Given the description of an element on the screen output the (x, y) to click on. 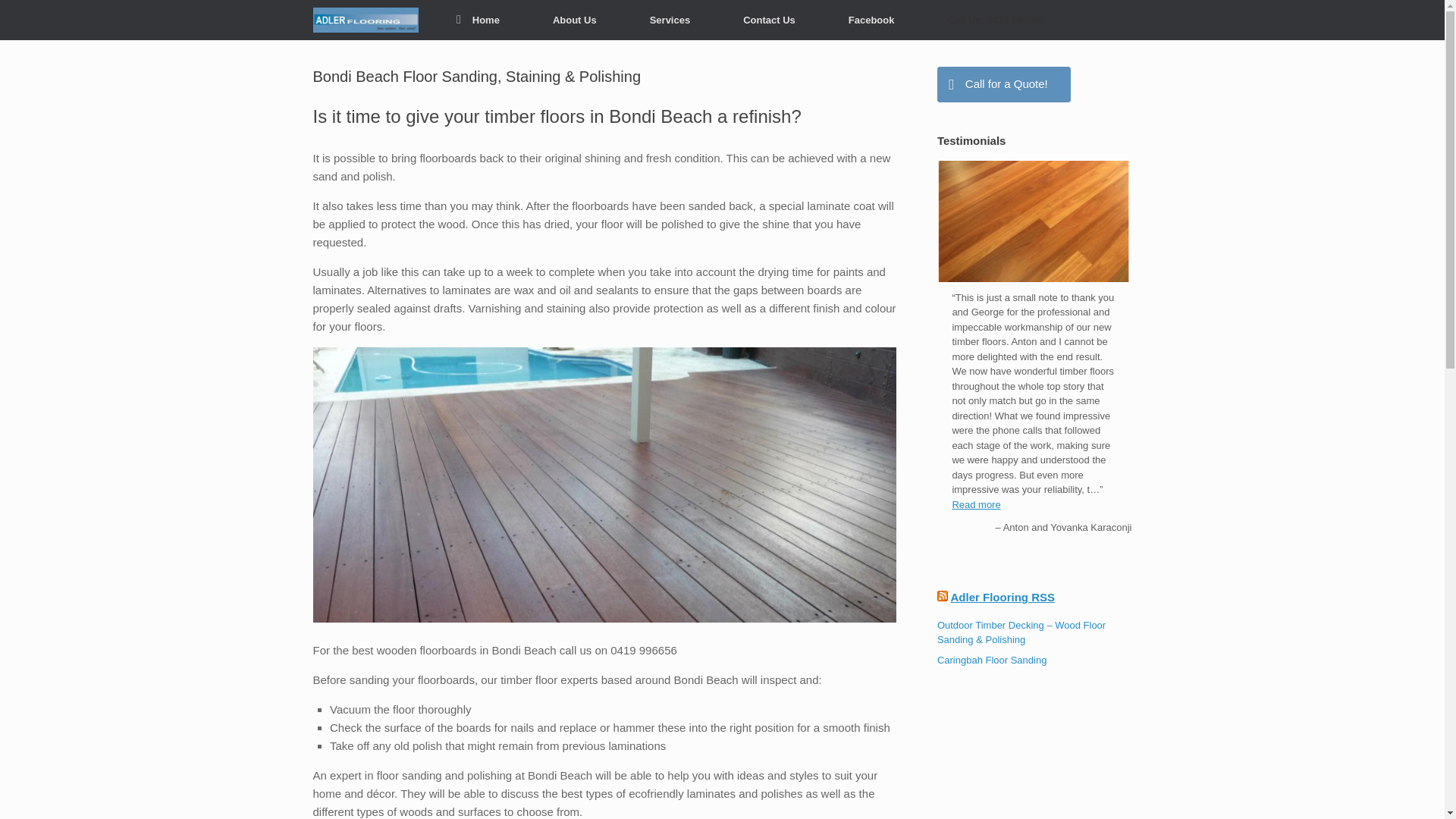
Services (670, 20)
Call Us: 0419 996656 (995, 20)
Read more (976, 504)
Complete testimonial by Anton and Yovanka Karaconji (1033, 278)
Caringbah Floor Sanding (991, 659)
Home (477, 20)
Contact Us (769, 20)
Adler Flooring RSS (1002, 596)
Call for a Quote! (1003, 84)
About Us (574, 20)
